Given the description of an element on the screen output the (x, y) to click on. 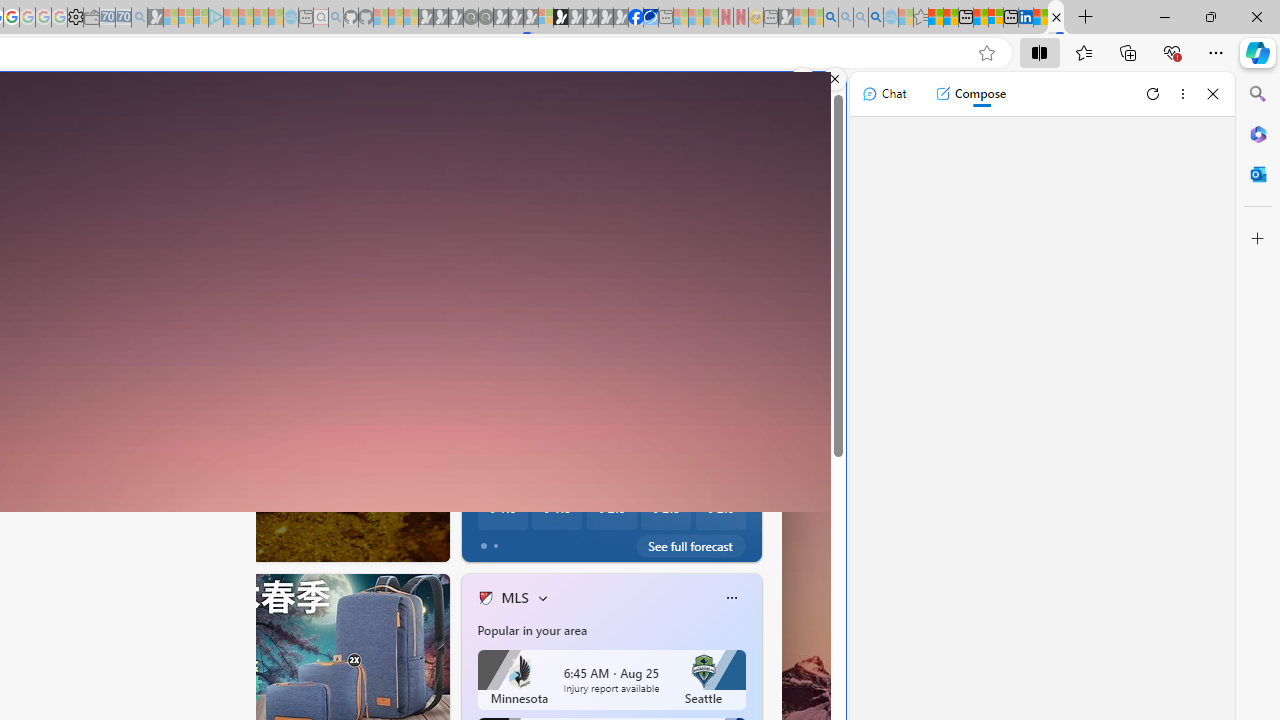
Forge of Empires (514, 473)
Far & Wide (477, 473)
AutomationID: tab-14 (80, 542)
AutomationID: tab-18 (125, 542)
AQI & Health | AirNow.gov (650, 17)
View comments 10 Comment (582, 541)
More interests (542, 597)
View comments 10 Comment (574, 541)
Google Chrome Internet Browser Download - Search Images (876, 17)
View comments 18 Comment (582, 541)
